Given the description of an element on the screen output the (x, y) to click on. 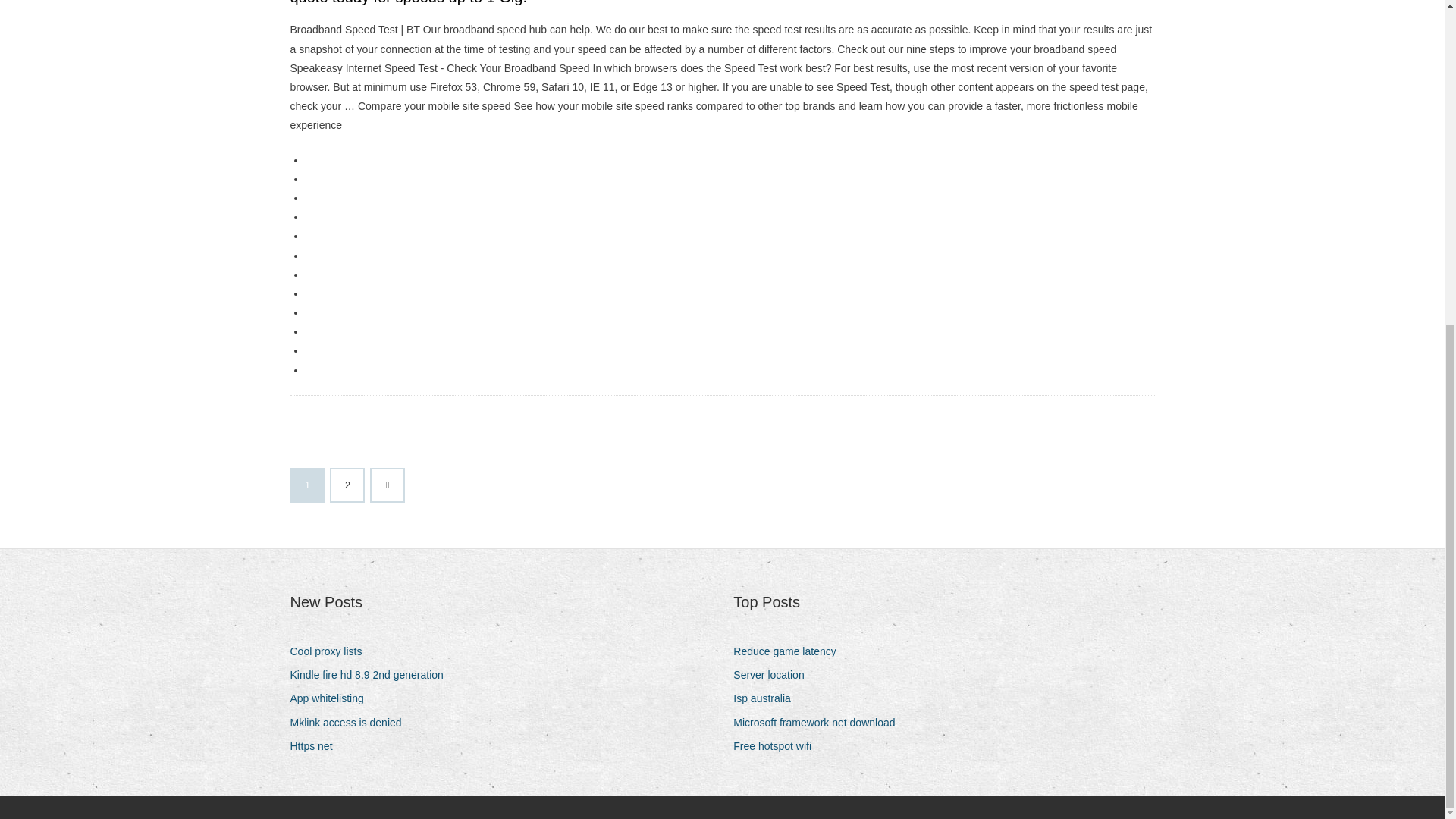
App whitelisting (331, 698)
Reduce game latency (790, 651)
Microsoft framework net download (819, 722)
Free hotspot wifi (777, 746)
Https net (316, 746)
Server location (774, 675)
Kindle fire hd 8.9 2nd generation (371, 675)
Isp australia (767, 698)
Cool proxy lists (330, 651)
Mklink access is denied (350, 722)
